Given the description of an element on the screen output the (x, y) to click on. 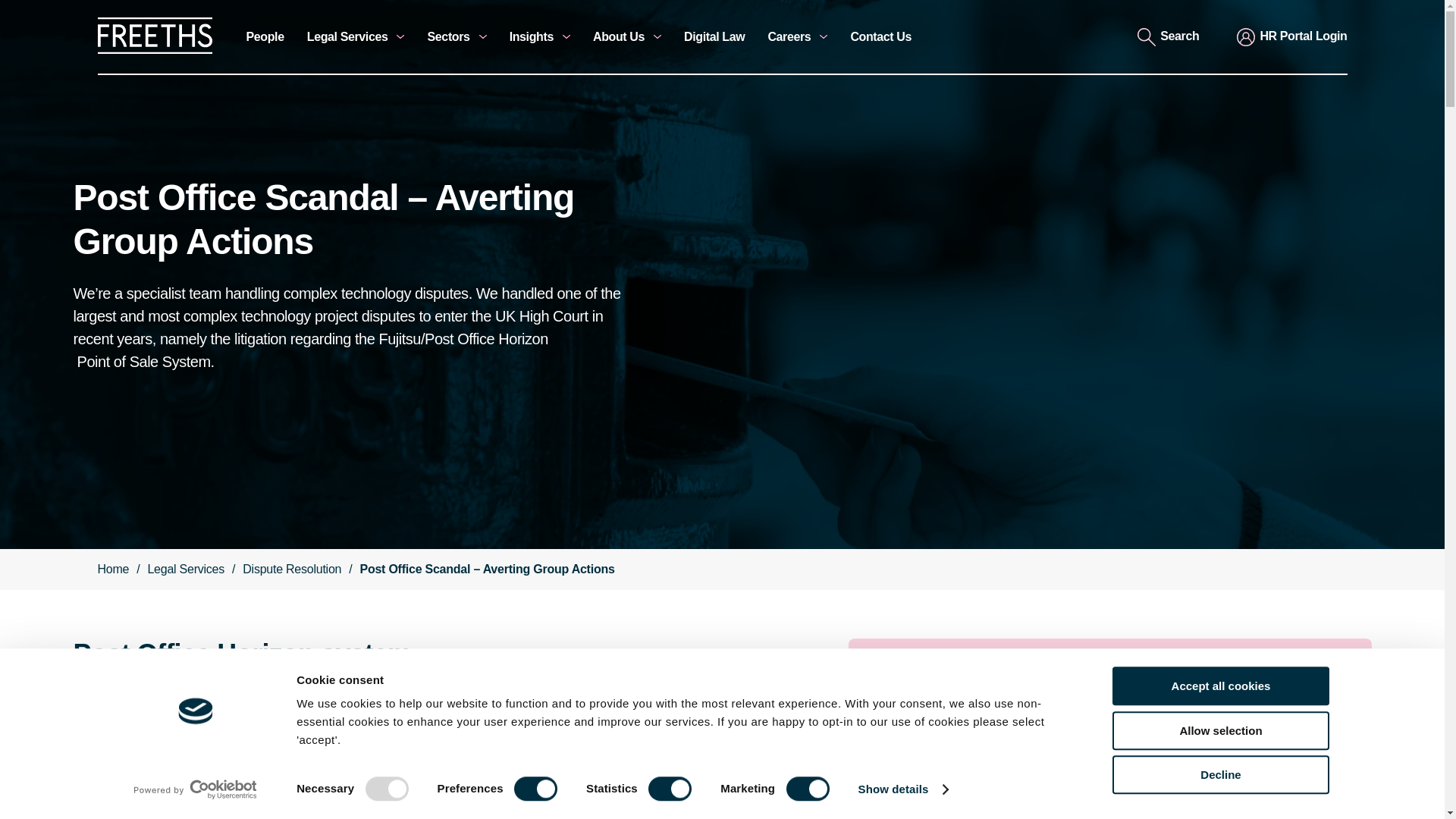
Accept all cookies (1219, 685)
Show details (902, 789)
Allow selection (1219, 730)
Go to homepage (154, 49)
Decline (1219, 774)
